Given the description of an element on the screen output the (x, y) to click on. 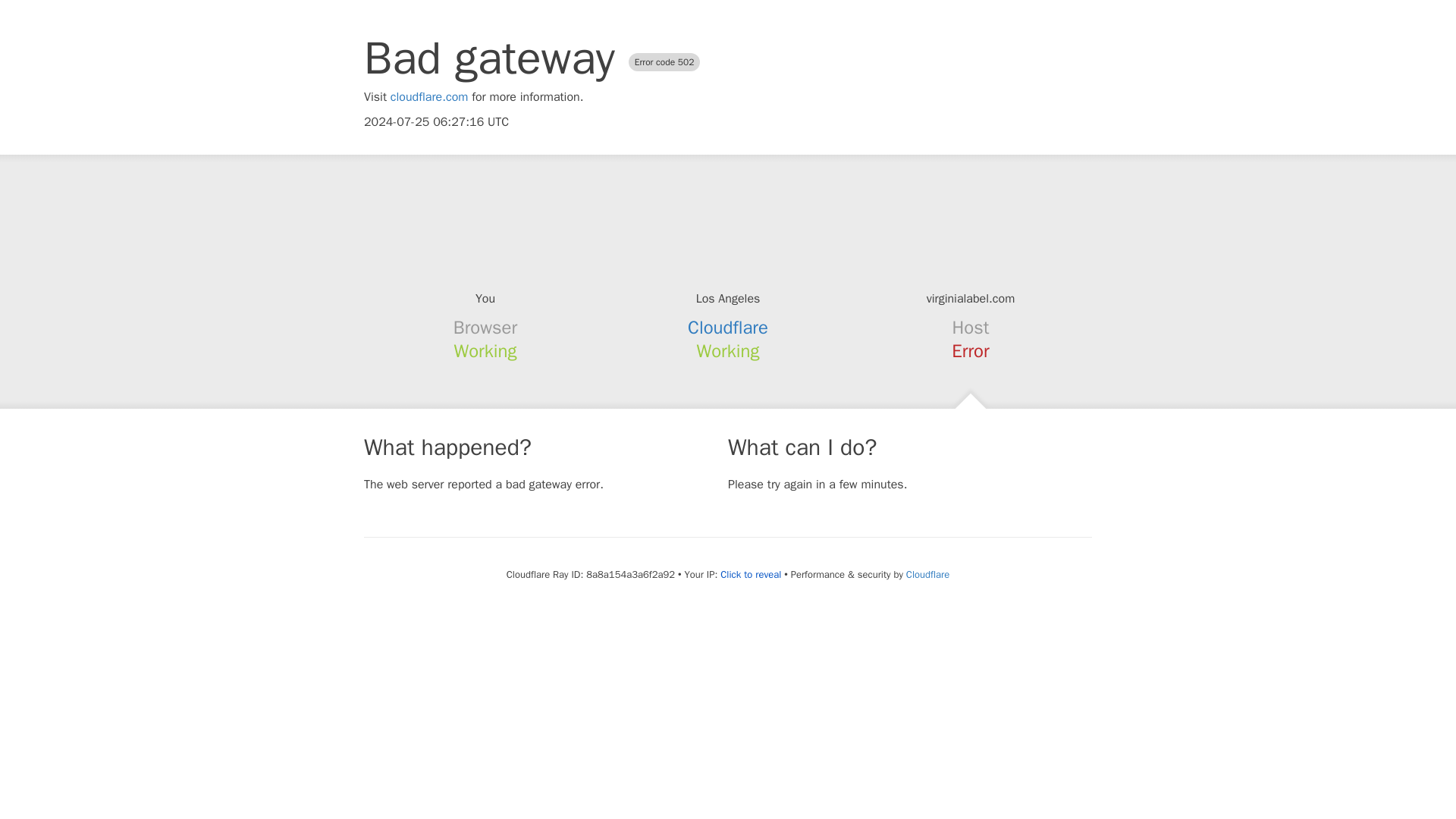
Click to reveal (750, 574)
Cloudflare (727, 327)
cloudflare.com (429, 96)
Cloudflare (927, 574)
